Given the description of an element on the screen output the (x, y) to click on. 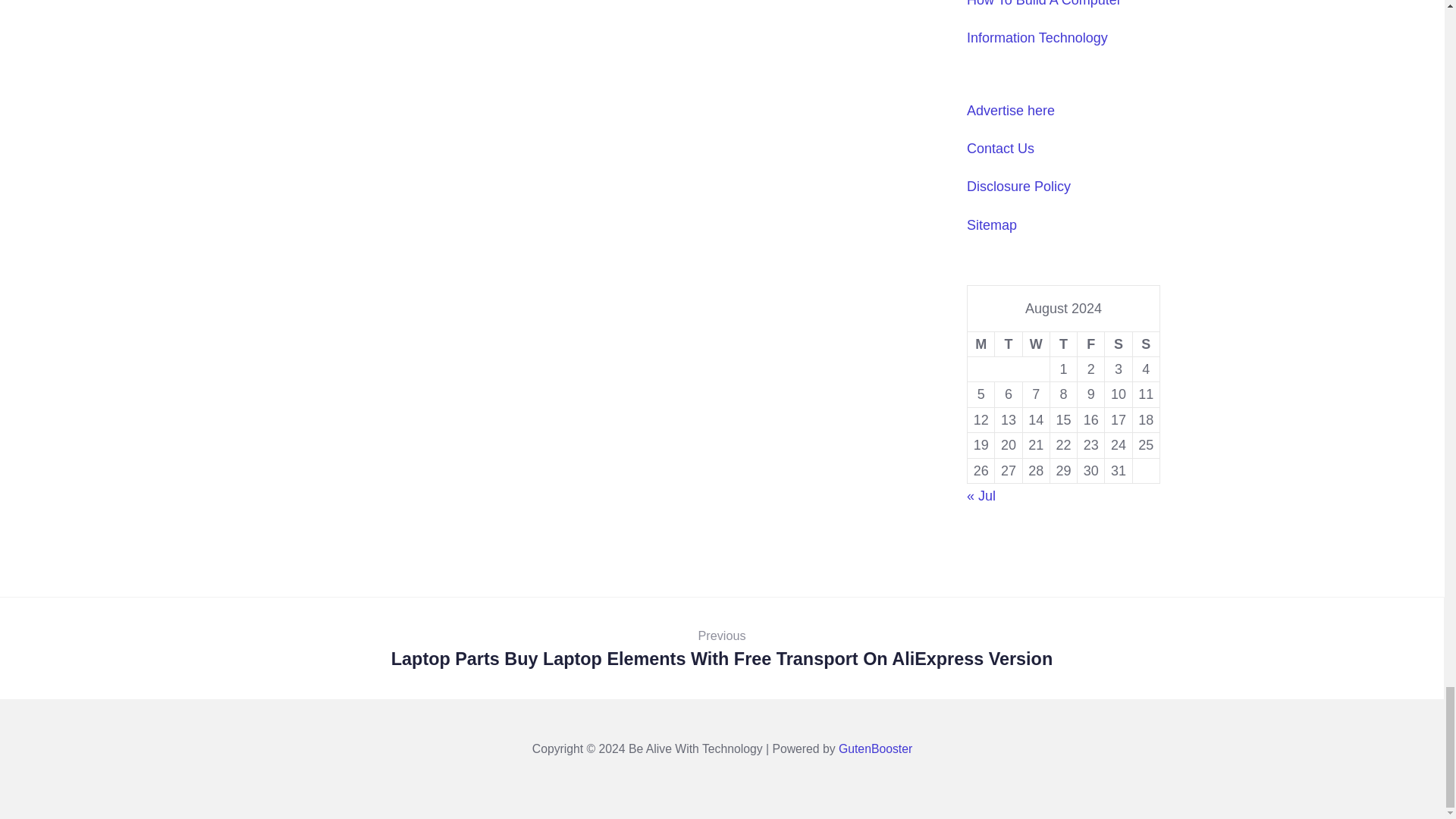
Thursday (1063, 343)
Tuesday (1008, 343)
Monday (981, 343)
Wednesday (1035, 343)
Saturday (1118, 343)
Sunday (1145, 343)
Friday (1091, 343)
